Given the description of an element on the screen output the (x, y) to click on. 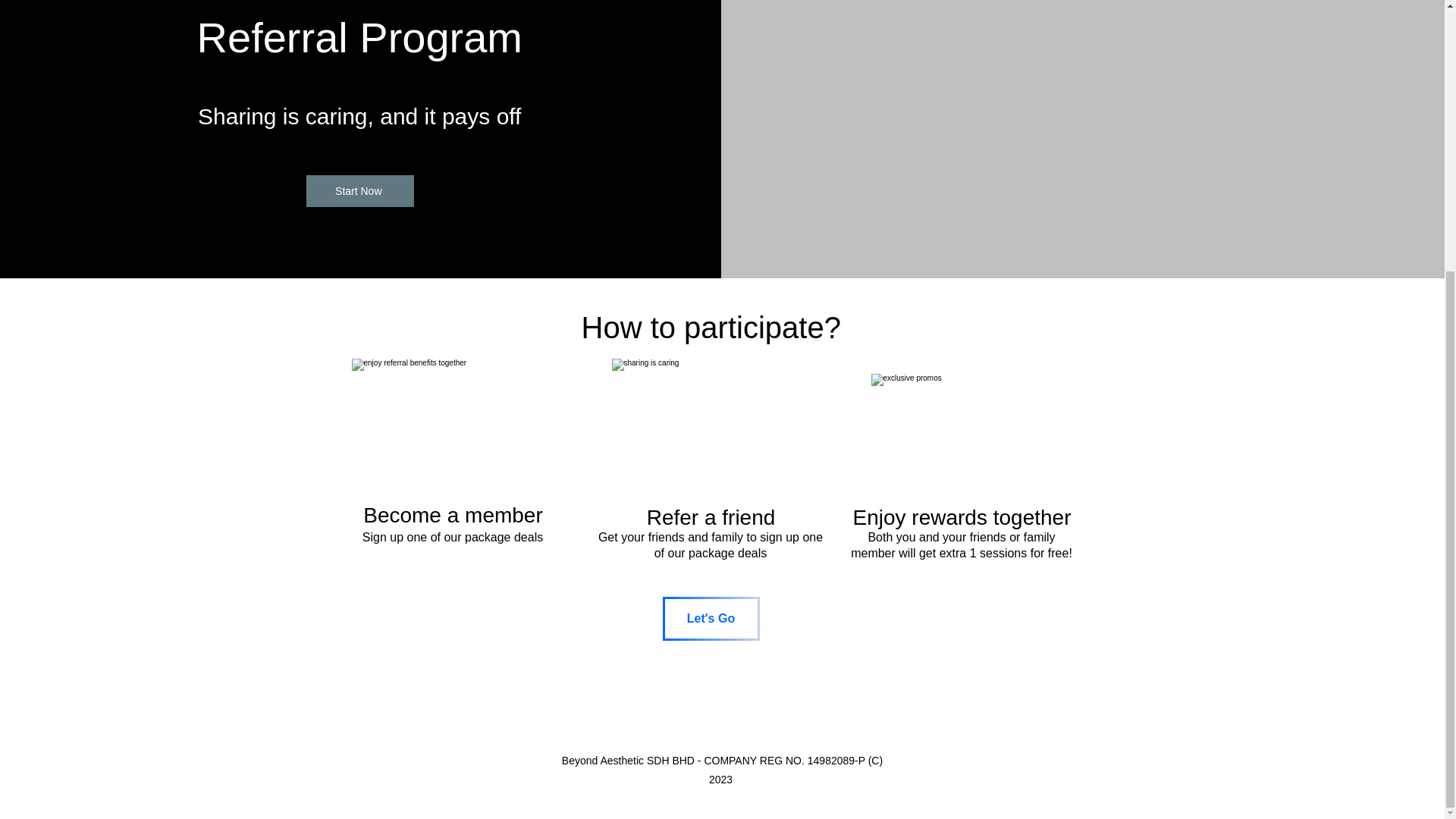
happy.png (453, 430)
Let's Go (711, 618)
share.png (710, 429)
Start Now (359, 191)
discount.png (960, 438)
